Given the description of an element on the screen output the (x, y) to click on. 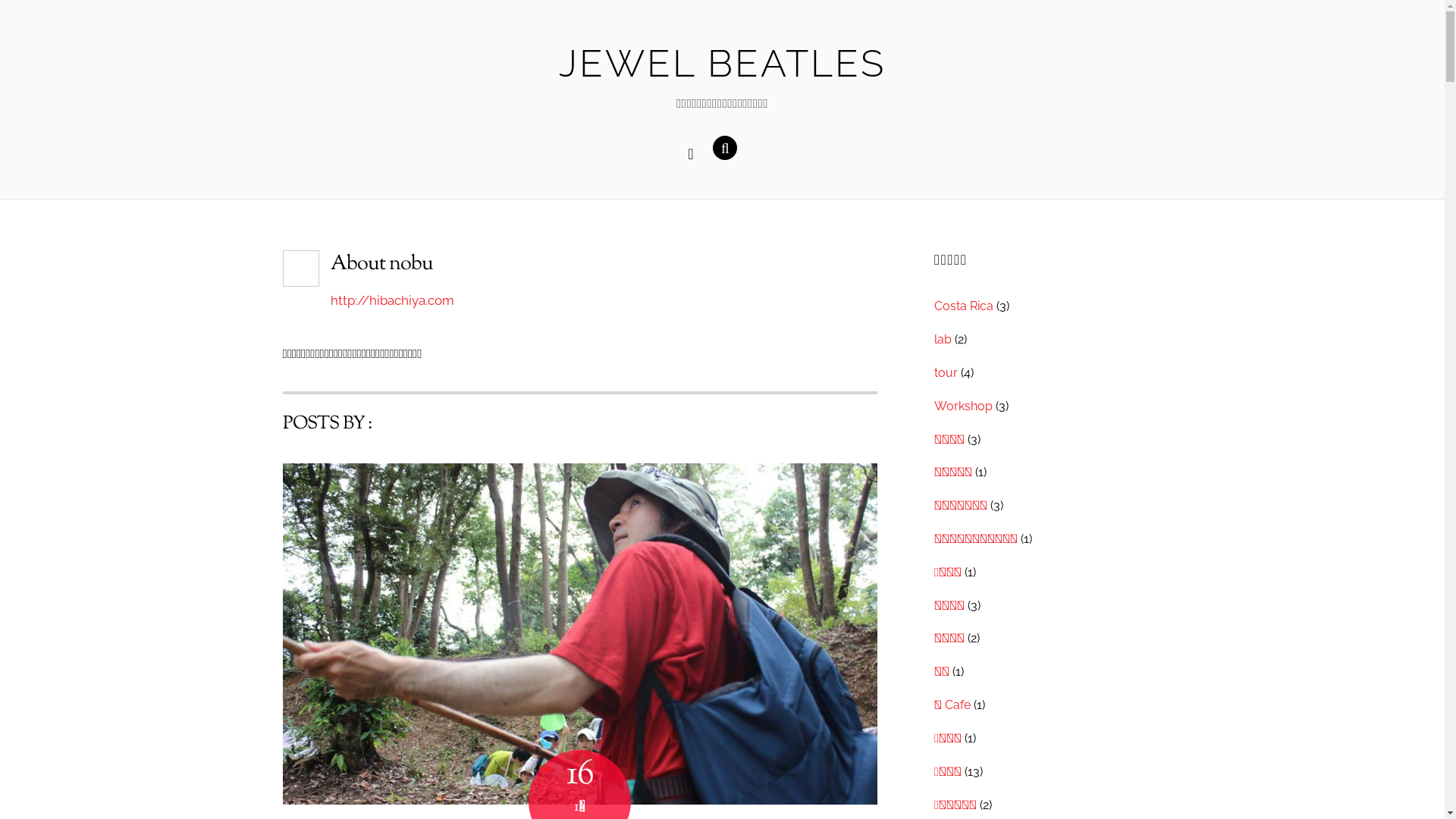
JEWEL BEATLES Element type: text (721, 62)
http://hibachiya.com Element type: text (392, 299)
Workshop Element type: text (963, 405)
lab Element type: text (942, 339)
Costa Rica Element type: text (963, 305)
11204957_776481085794205_8823450523581565889_n Element type: hover (579, 633)
tour Element type: text (945, 372)
